Given the description of an element on the screen output the (x, y) to click on. 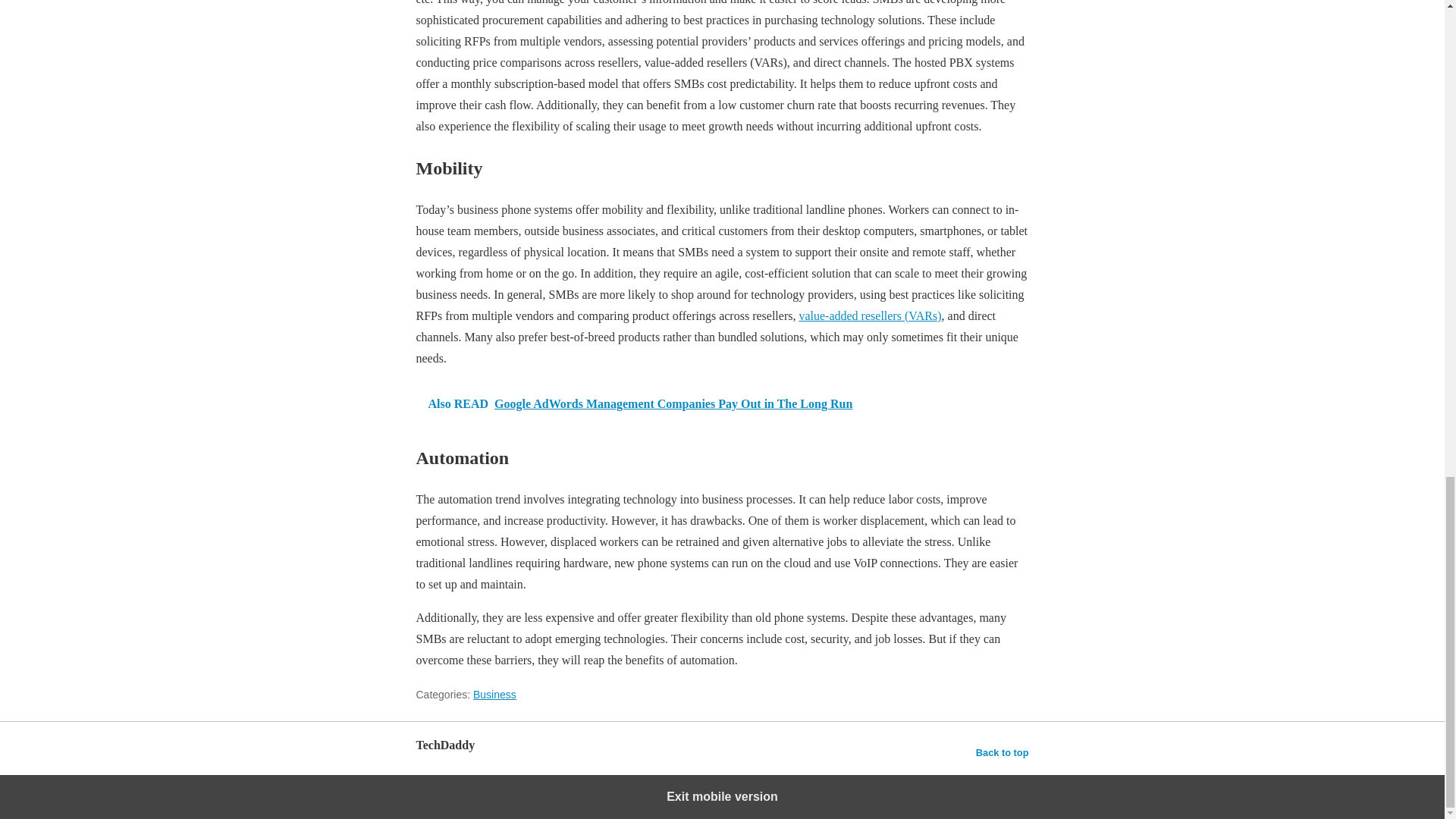
Back to top (1002, 752)
Business (494, 694)
